Given the description of an element on the screen output the (x, y) to click on. 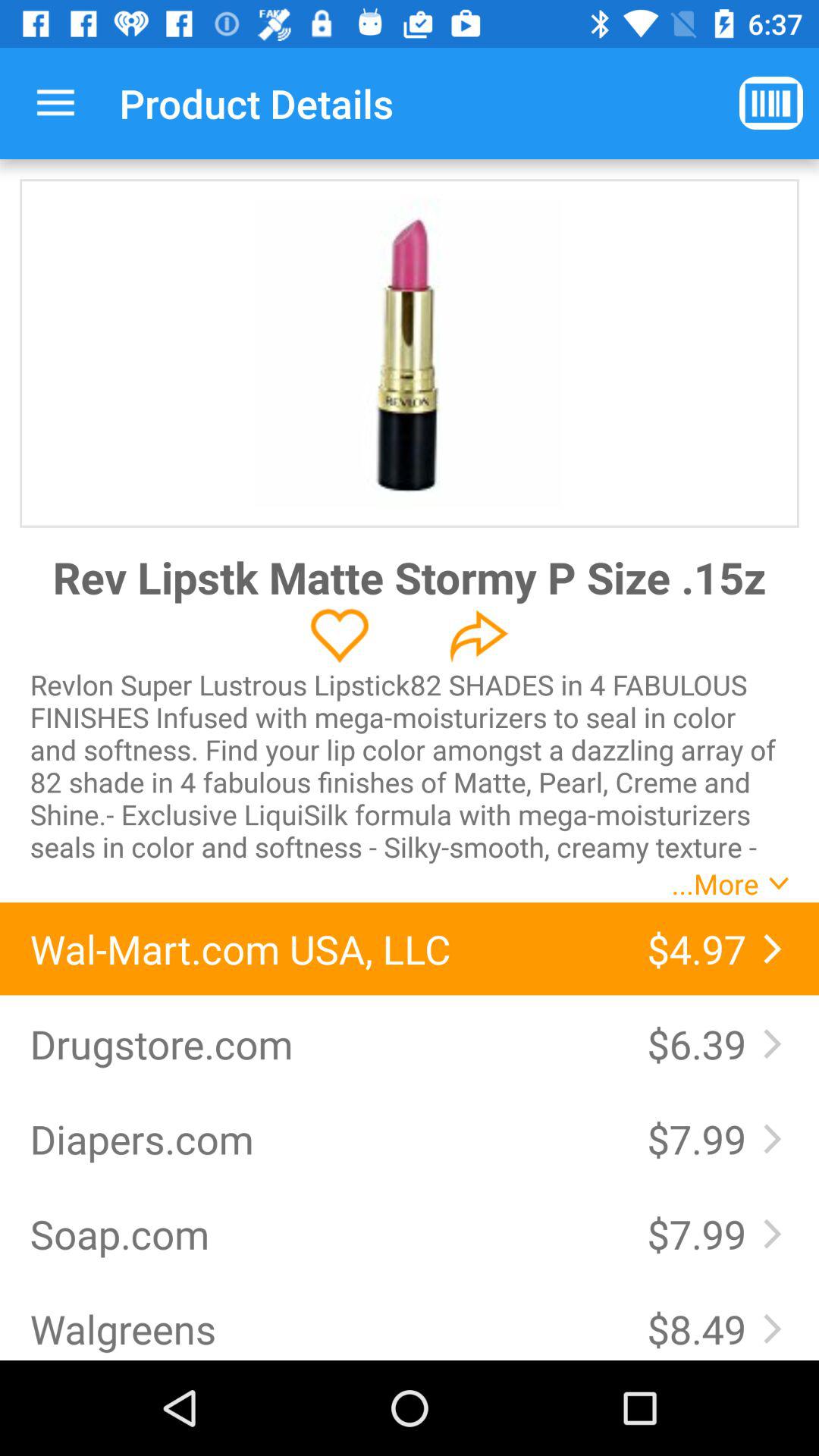
turn on the icon below the wal mart com icon (323, 1043)
